Given the description of an element on the screen output the (x, y) to click on. 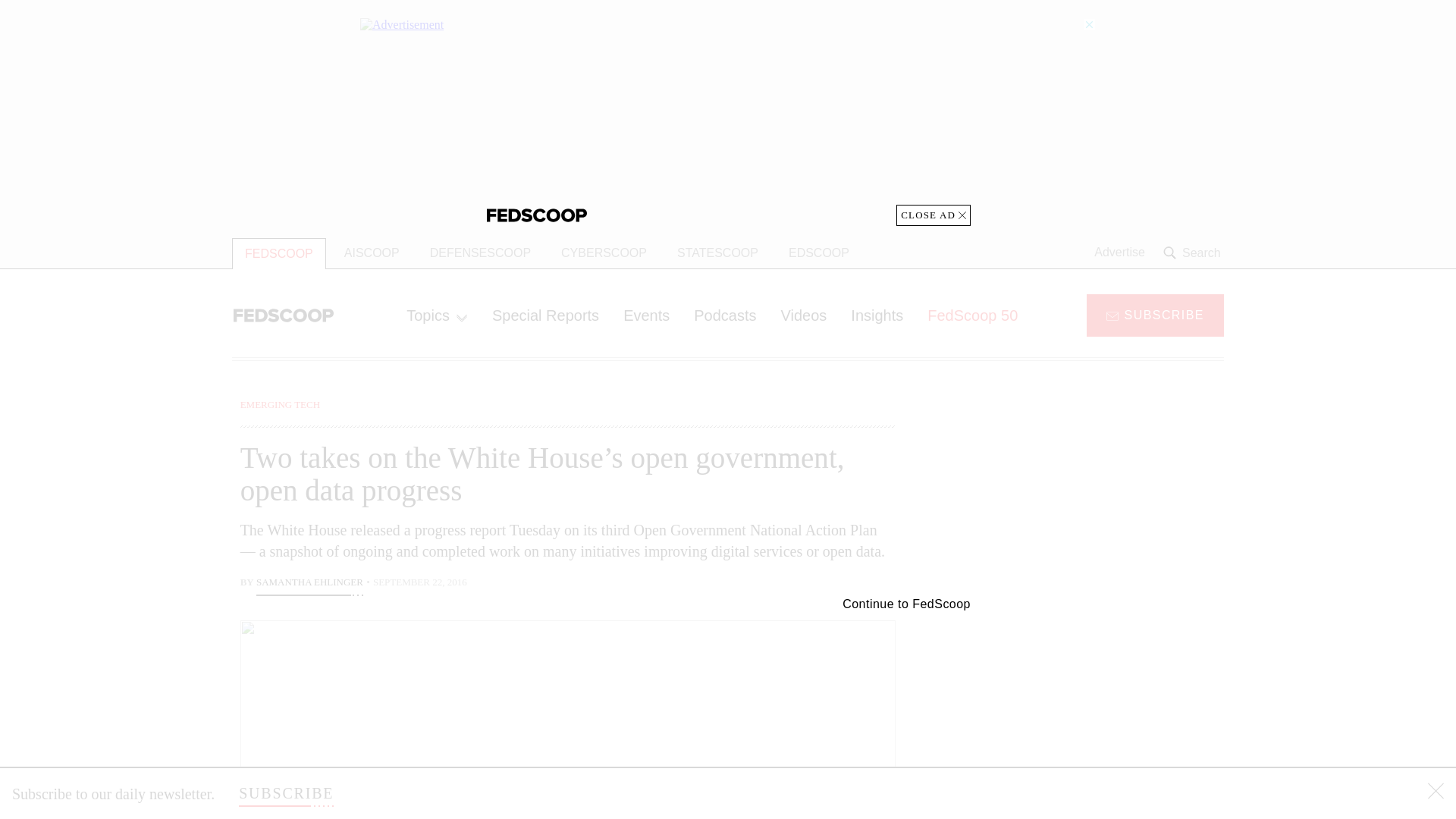
3rd party ad content (1101, 714)
EMERGING TECH (280, 404)
DEFENSESCOOP (480, 253)
Videos (804, 315)
Special Reports (545, 315)
FedScoop 50 (972, 315)
CYBERSCOOP (603, 253)
AISCOOP (371, 253)
